Given the description of an element on the screen output the (x, y) to click on. 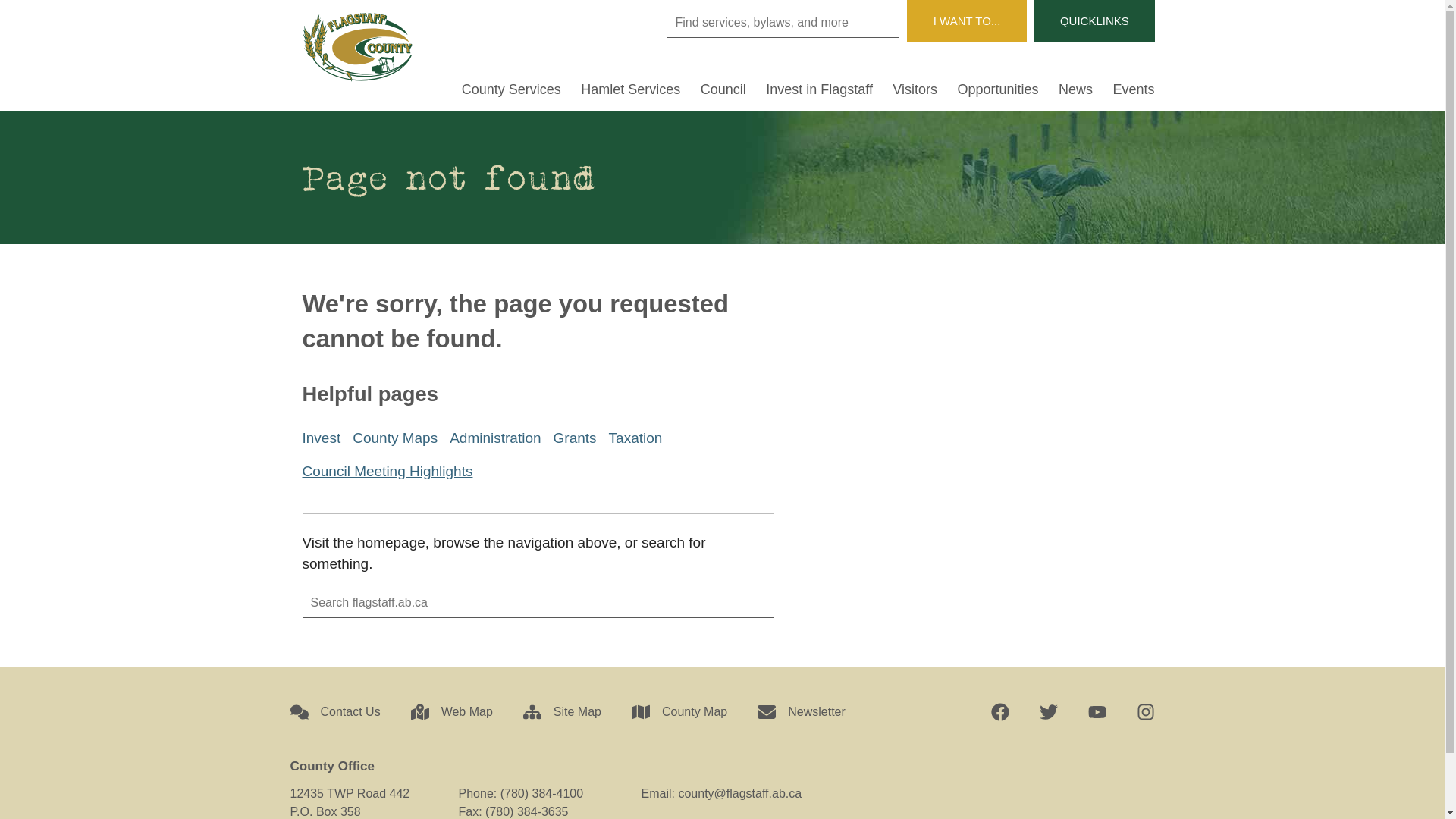
YouTube Element type: text (1096, 711)
Opportunities Element type: text (997, 92)
Taxation Element type: text (635, 437)
Newsletter Element type: text (801, 711)
Invest Element type: text (320, 437)
QUICKLINKS Element type: text (1094, 20)
Council Meeting Highlights Element type: text (386, 471)
I WANT TO... Element type: text (966, 20)
Administration Element type: text (494, 437)
Council Element type: text (723, 92)
Instagram Element type: text (1144, 711)
Facebook Element type: text (999, 711)
News Element type: text (1075, 92)
County Map Element type: text (679, 711)
county@flagstaff.ab.ca Element type: text (739, 793)
County Services Element type: text (511, 92)
Contact Us Element type: text (334, 711)
Web Map Element type: text (451, 711)
Visitors Element type: text (914, 92)
Twitter Element type: text (1047, 711)
Grants Element type: text (574, 437)
County Maps Element type: text (394, 437)
Hamlet Services Element type: text (630, 92)
Invest in Flagstaff Element type: text (818, 92)
Site Map Element type: text (562, 711)
Events Element type: text (1133, 92)
